Given the description of an element on the screen output the (x, y) to click on. 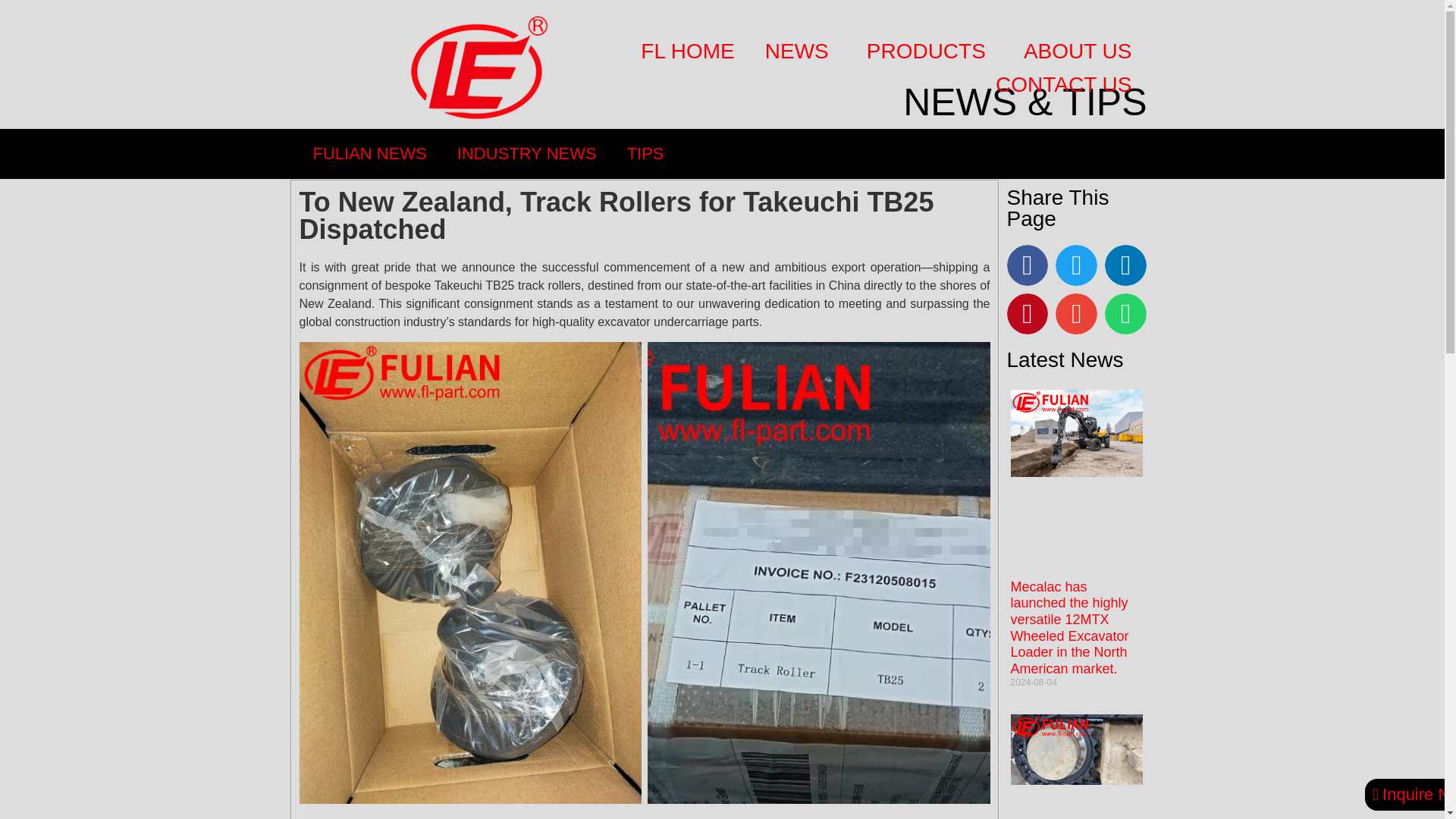
FL HOME (687, 51)
NEWS (800, 51)
PRODUCTS (930, 51)
ABOUT US (1081, 51)
